Given the description of an element on the screen output the (x, y) to click on. 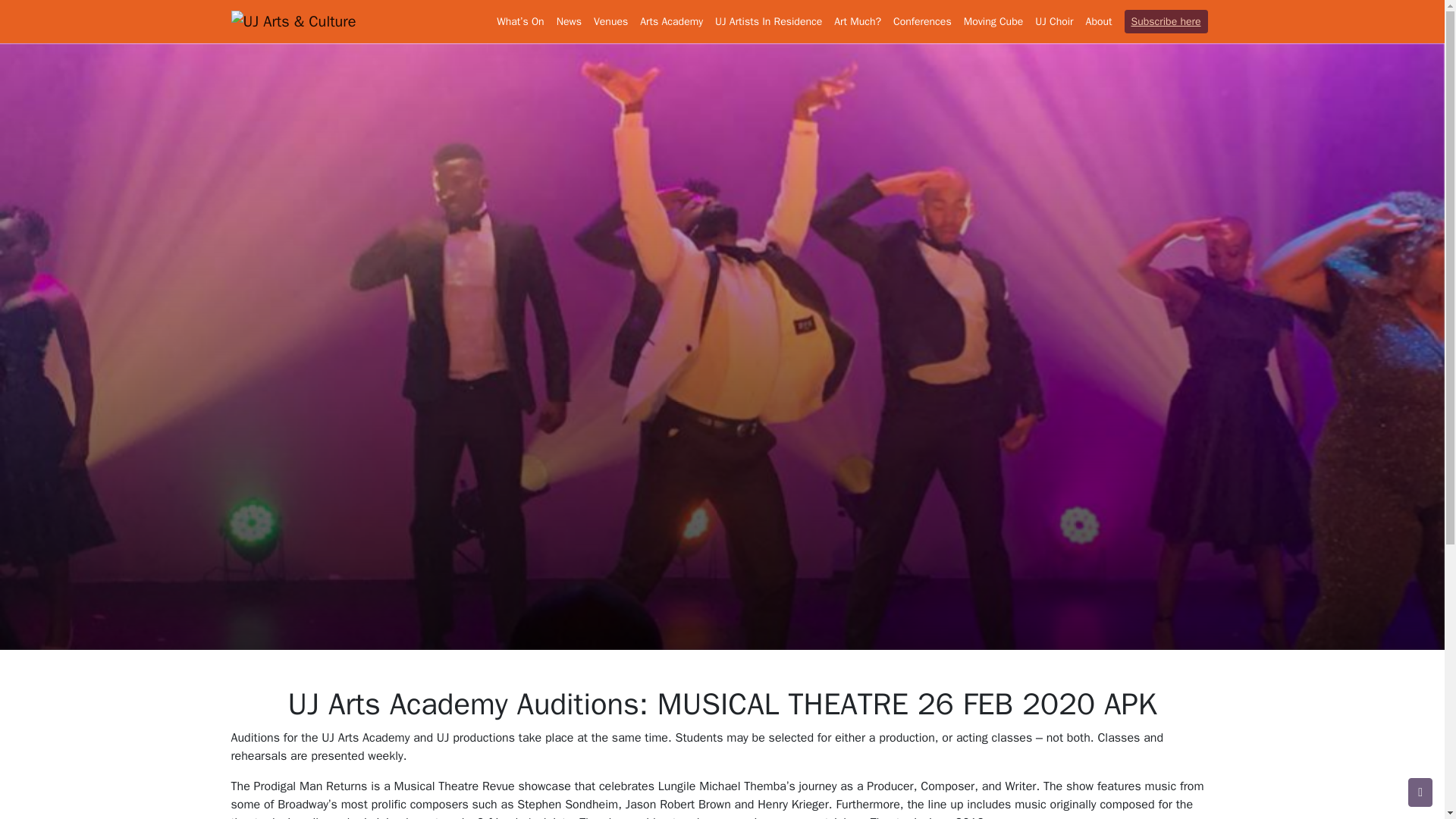
Subscribe here (1166, 21)
Subscribe here (1166, 21)
Arts Academy (671, 21)
News (569, 21)
About (1096, 21)
Venues (610, 21)
UJ Artists In Residence (768, 21)
Art Much? (857, 21)
UJ Choir (1053, 21)
Moving Cube (993, 21)
